Given the description of an element on the screen output the (x, y) to click on. 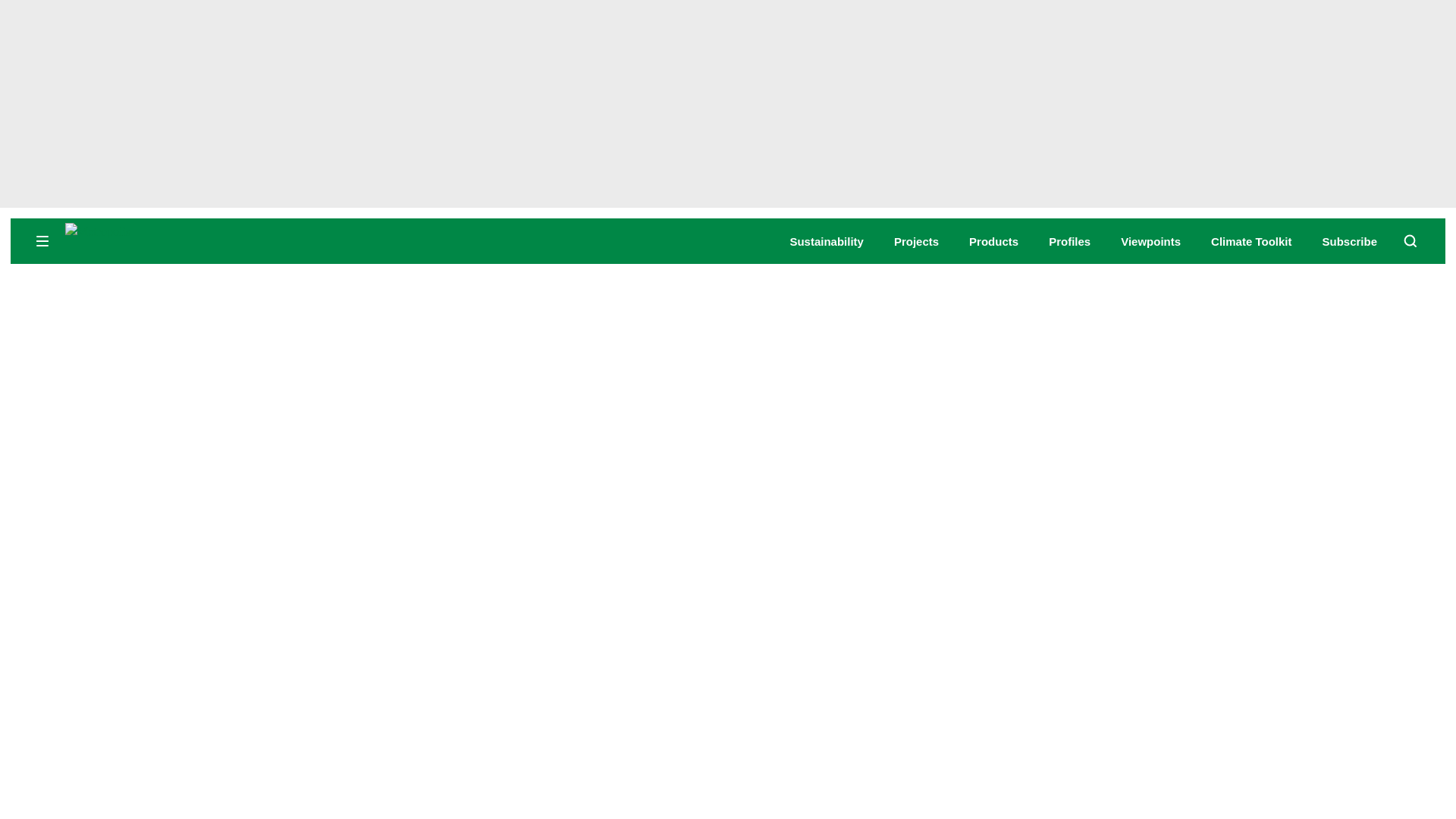
METROPOLIS (181, 240)
Climate Toolkit (1251, 241)
Products (993, 241)
Profiles (1069, 241)
Viewpoints (1150, 241)
Projects (916, 241)
Sustainability (826, 241)
Subscribe (1349, 241)
